Given the description of an element on the screen output the (x, y) to click on. 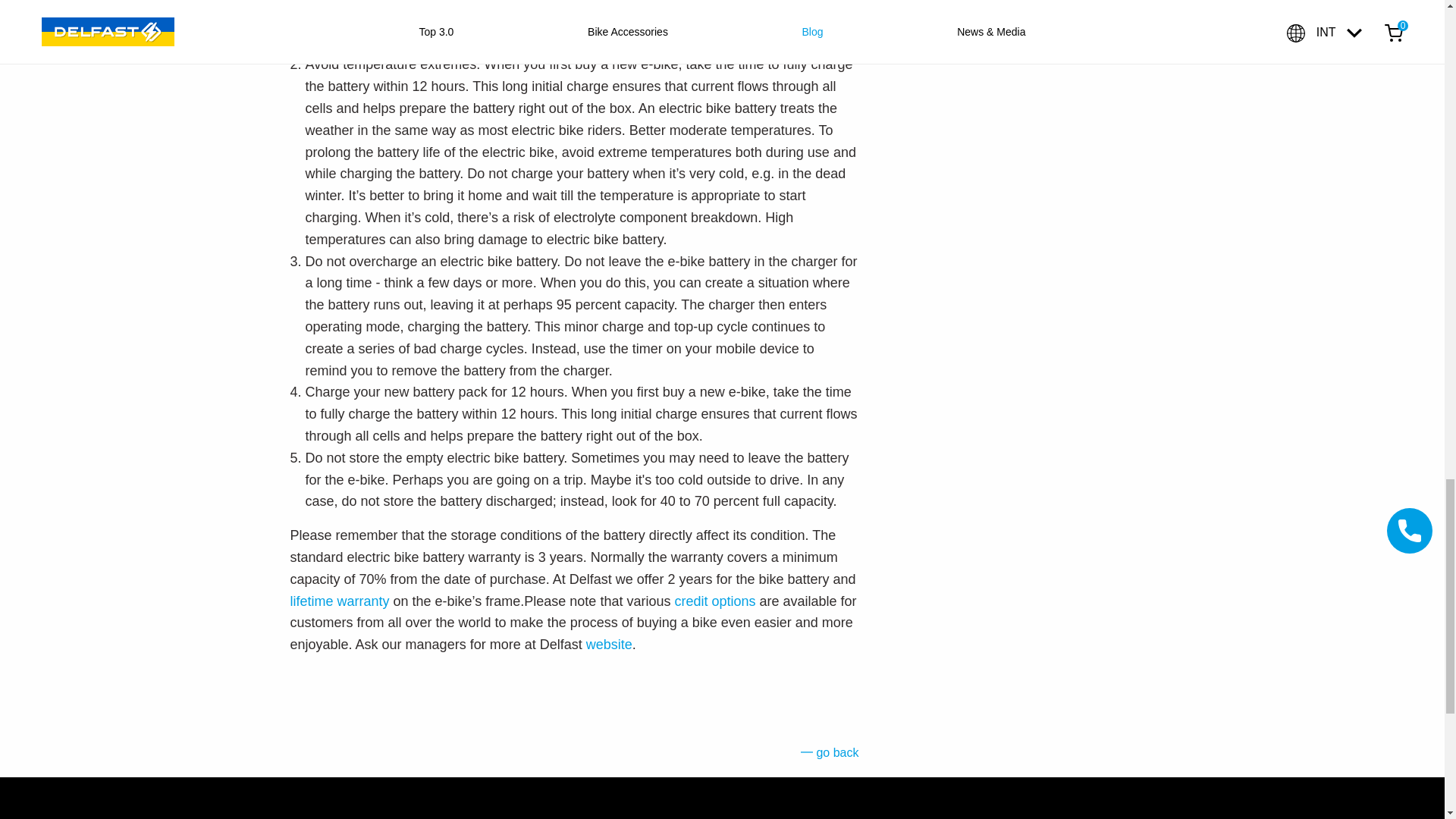
website (608, 644)
lifetime warranty (338, 601)
credit options (714, 601)
